Given the description of an element on the screen output the (x, y) to click on. 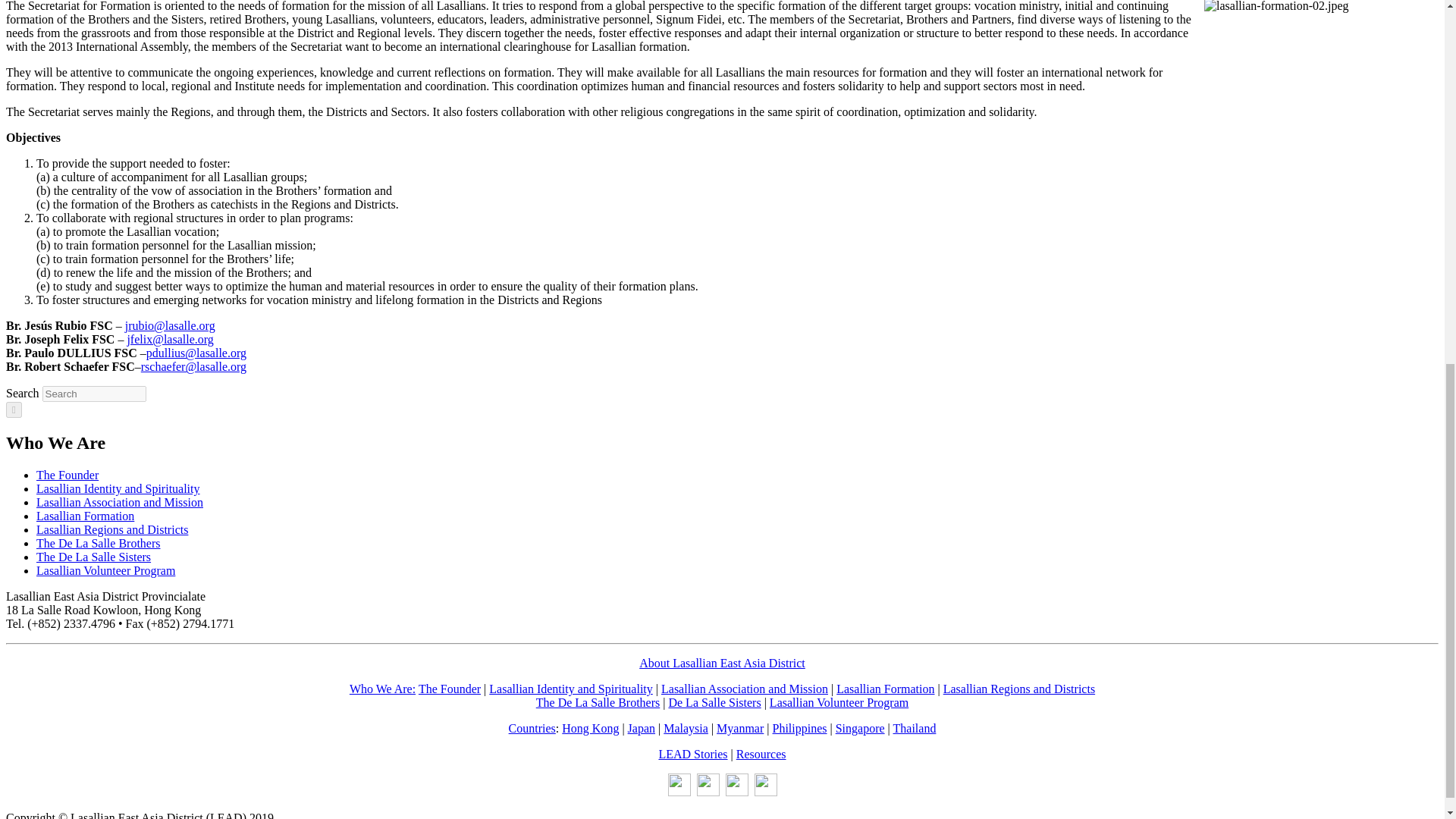
Lasallian Identity and Spirituality (118, 488)
Enter the terms you wish to search for. (94, 393)
Lasallian Association and Mission (119, 502)
The Founder (67, 474)
